Given the description of an element on the screen output the (x, y) to click on. 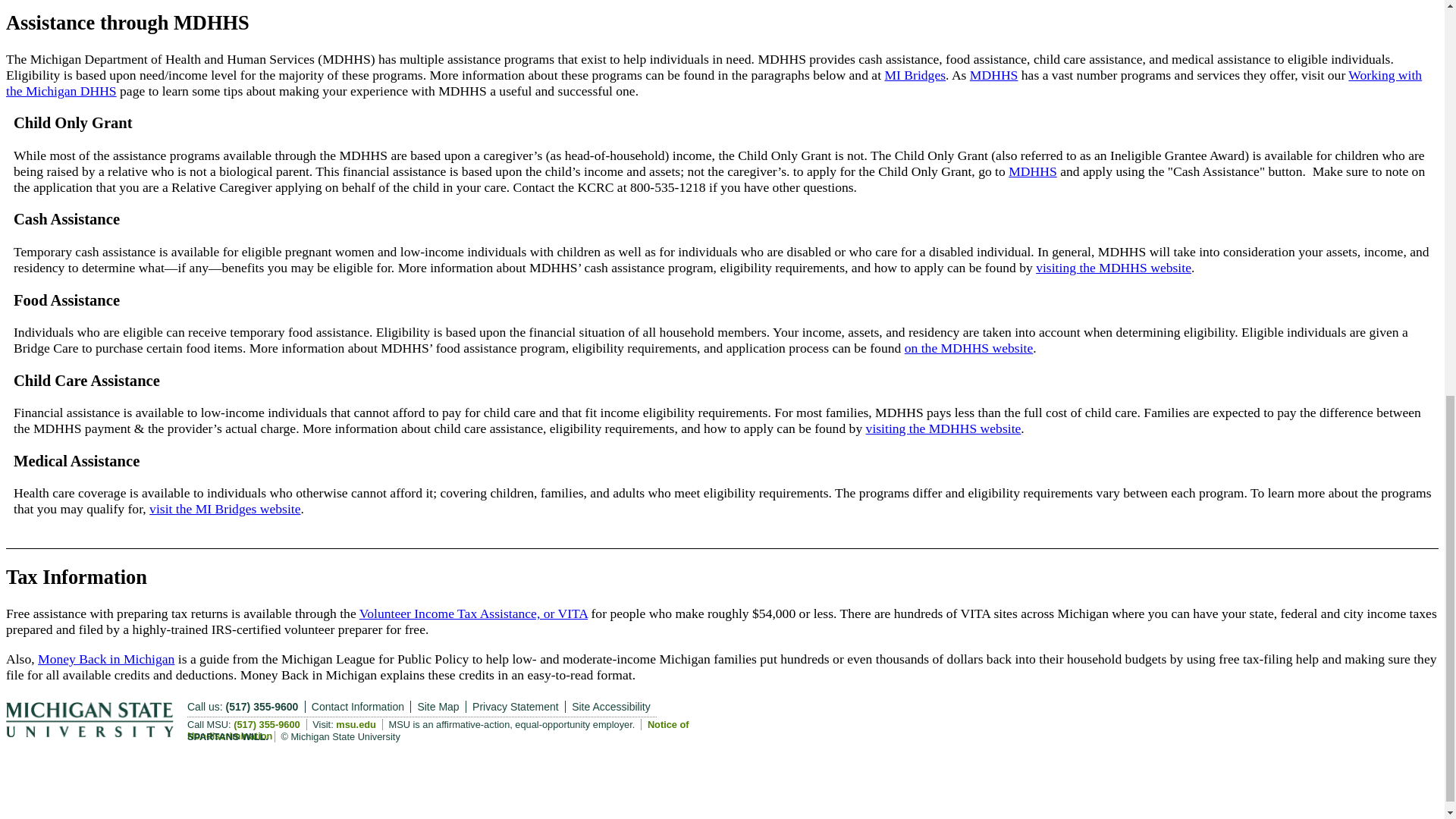
Volunteer Income Tax Assistance, or VITA (473, 613)
Contact Information (357, 706)
visiting the MDHHS website (944, 427)
visit the MI Bridges website (224, 508)
MDHHS (1033, 171)
Working with the Michigan DHHS (713, 82)
on the MDHHS website (968, 347)
MI Bridges (913, 74)
Money Back in Michigan (105, 658)
MDHHS (993, 74)
visiting the MDHHS website (1113, 267)
Site Map (440, 706)
